Given the description of an element on the screen output the (x, y) to click on. 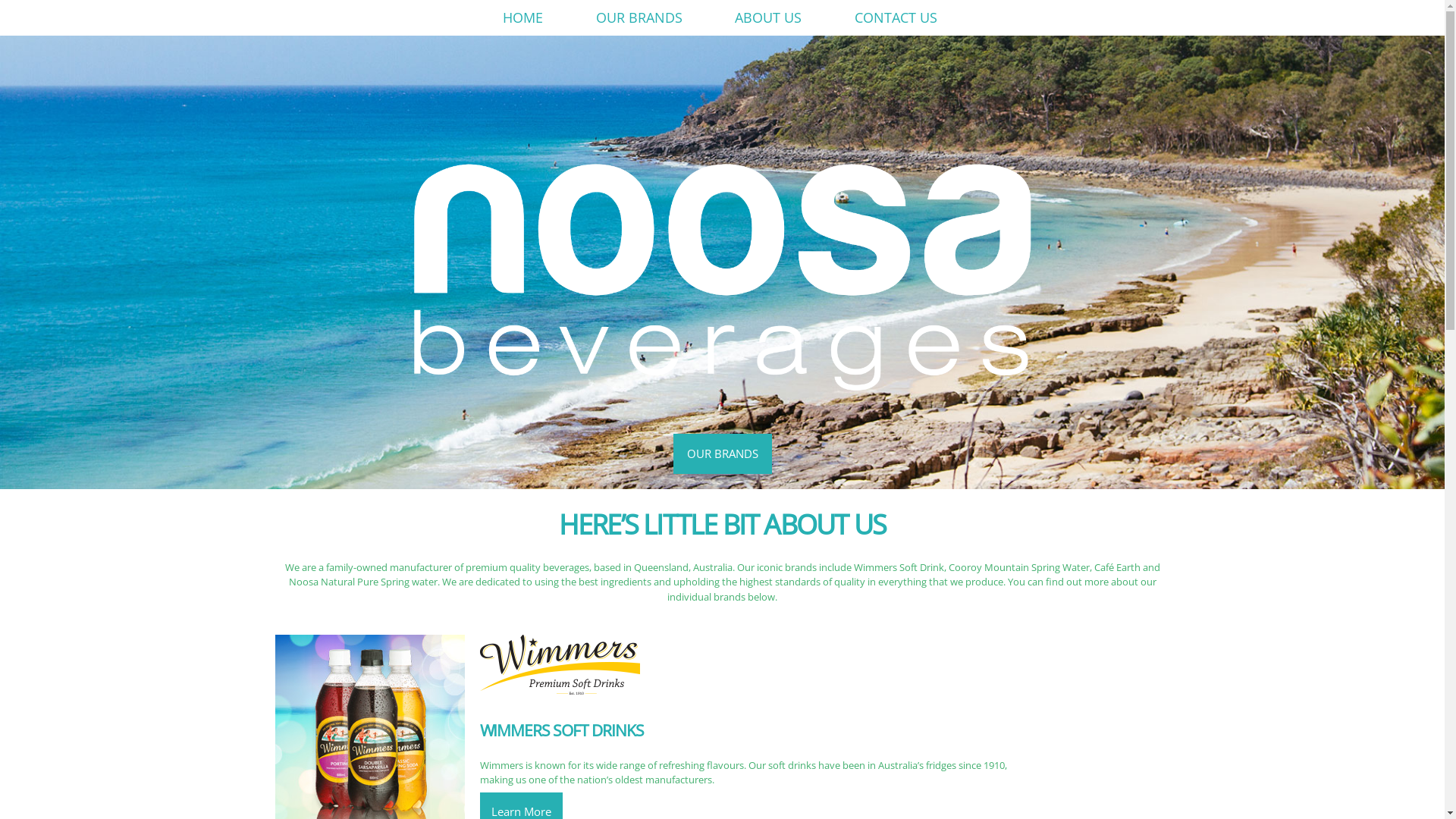
OUR BRANDS Element type: text (722, 453)
Skip to main content Element type: text (695, 1)
